Given the description of an element on the screen output the (x, y) to click on. 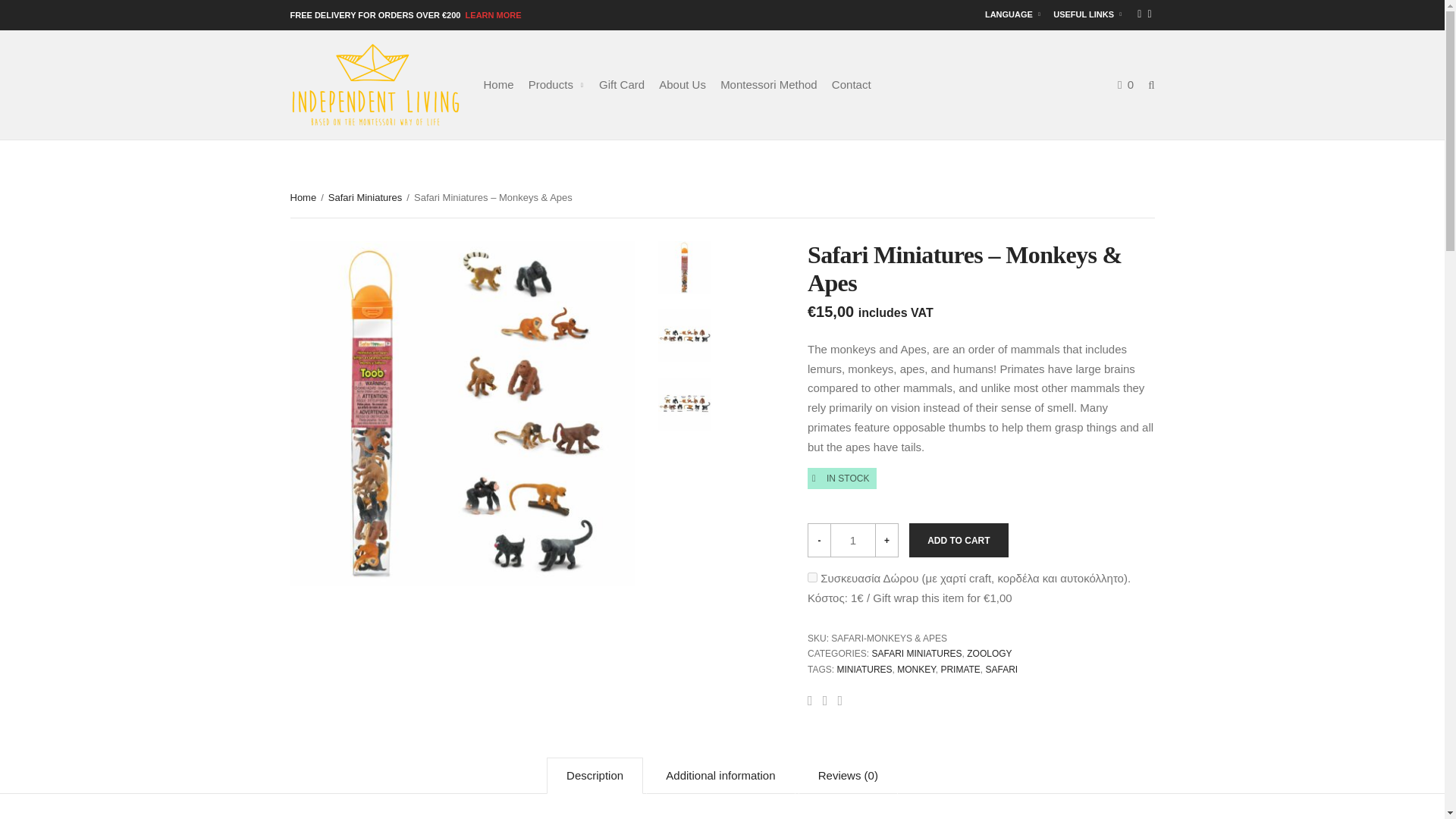
1000019241.jpg (684, 403)
1 (852, 540)
Qty (852, 540)
1000019239.jpg (461, 413)
yes (812, 577)
1000019240.jpg (684, 335)
1000019238.jpg (684, 267)
